Given the description of an element on the screen output the (x, y) to click on. 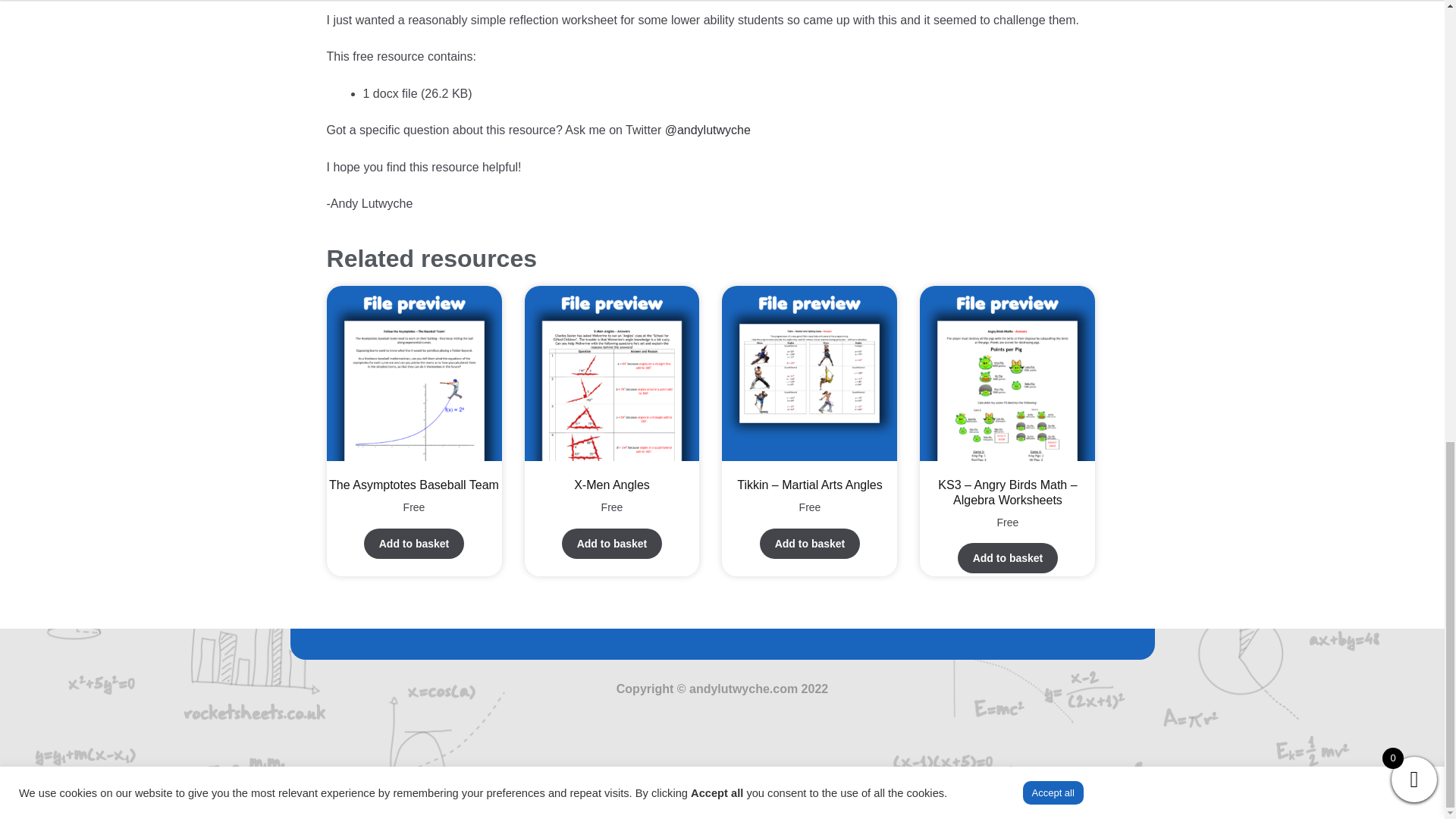
Add to basket (810, 543)
Add to basket (612, 543)
Add to basket (414, 543)
Add to basket (1008, 557)
